Given the description of an element on the screen output the (x, y) to click on. 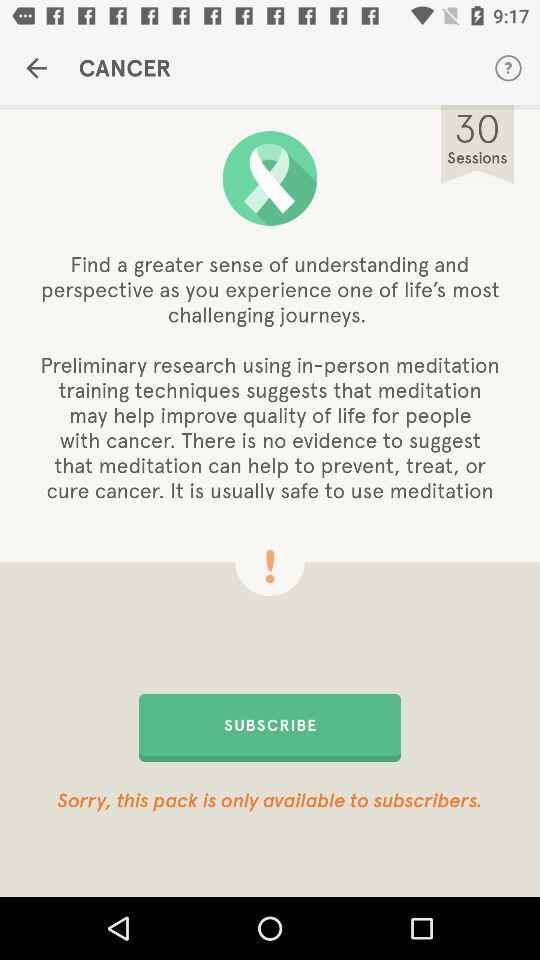
press icon to the left of cancer (36, 68)
